Given the description of an element on the screen output the (x, y) to click on. 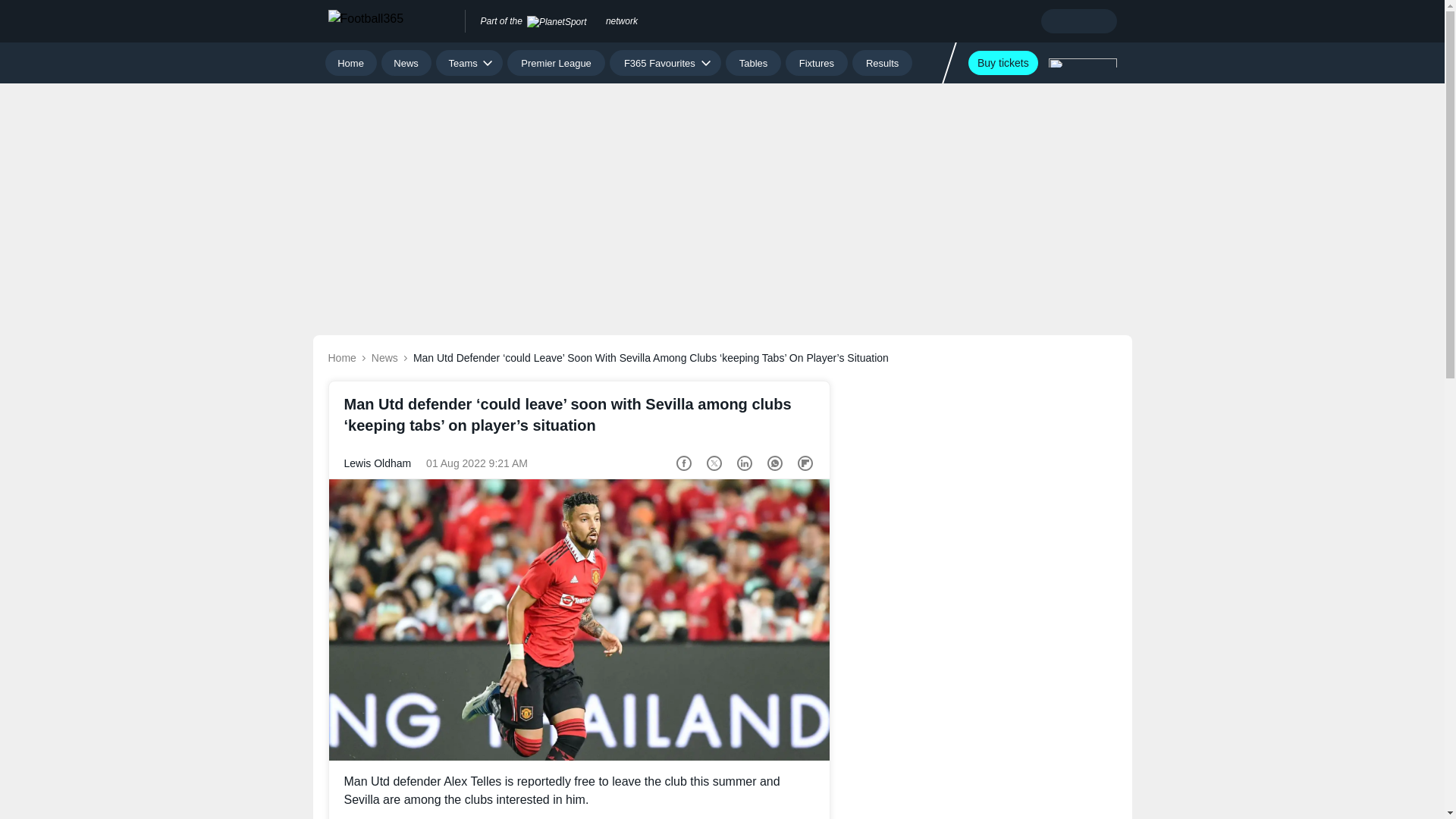
Teams (468, 62)
F365 Favourites (665, 62)
Tables (752, 62)
Buy tickets (1003, 62)
Results (881, 62)
Fixtures (817, 62)
Premier League (555, 62)
Home (349, 62)
News (405, 62)
